Given the description of an element on the screen output the (x, y) to click on. 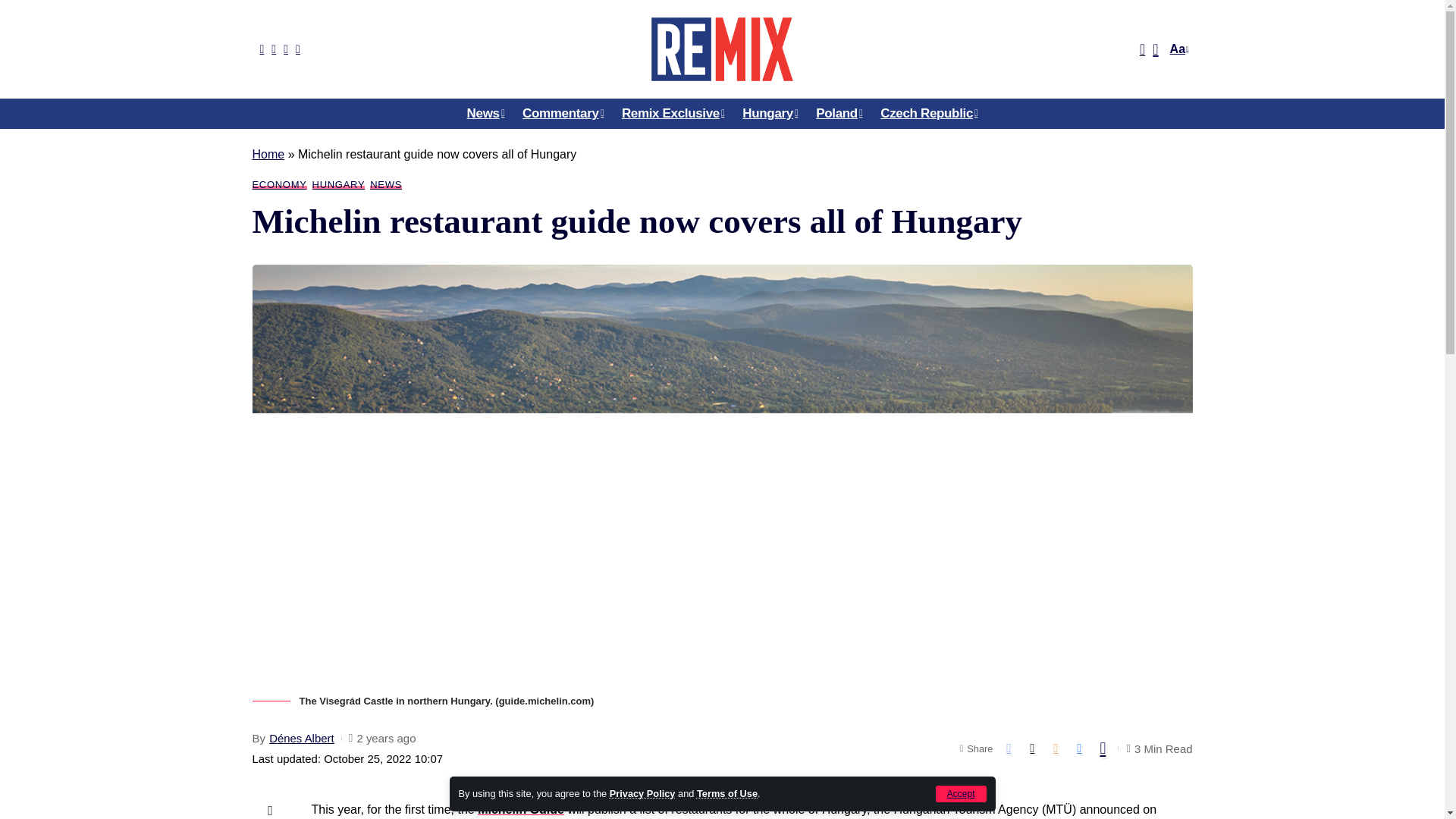
Remix News (721, 48)
Privacy Policy (642, 793)
Accept (961, 793)
Remix Exclusive (672, 113)
Aa (1177, 48)
Commentary (562, 113)
Terms of Use (727, 793)
News (485, 113)
